Given the description of an element on the screen output the (x, y) to click on. 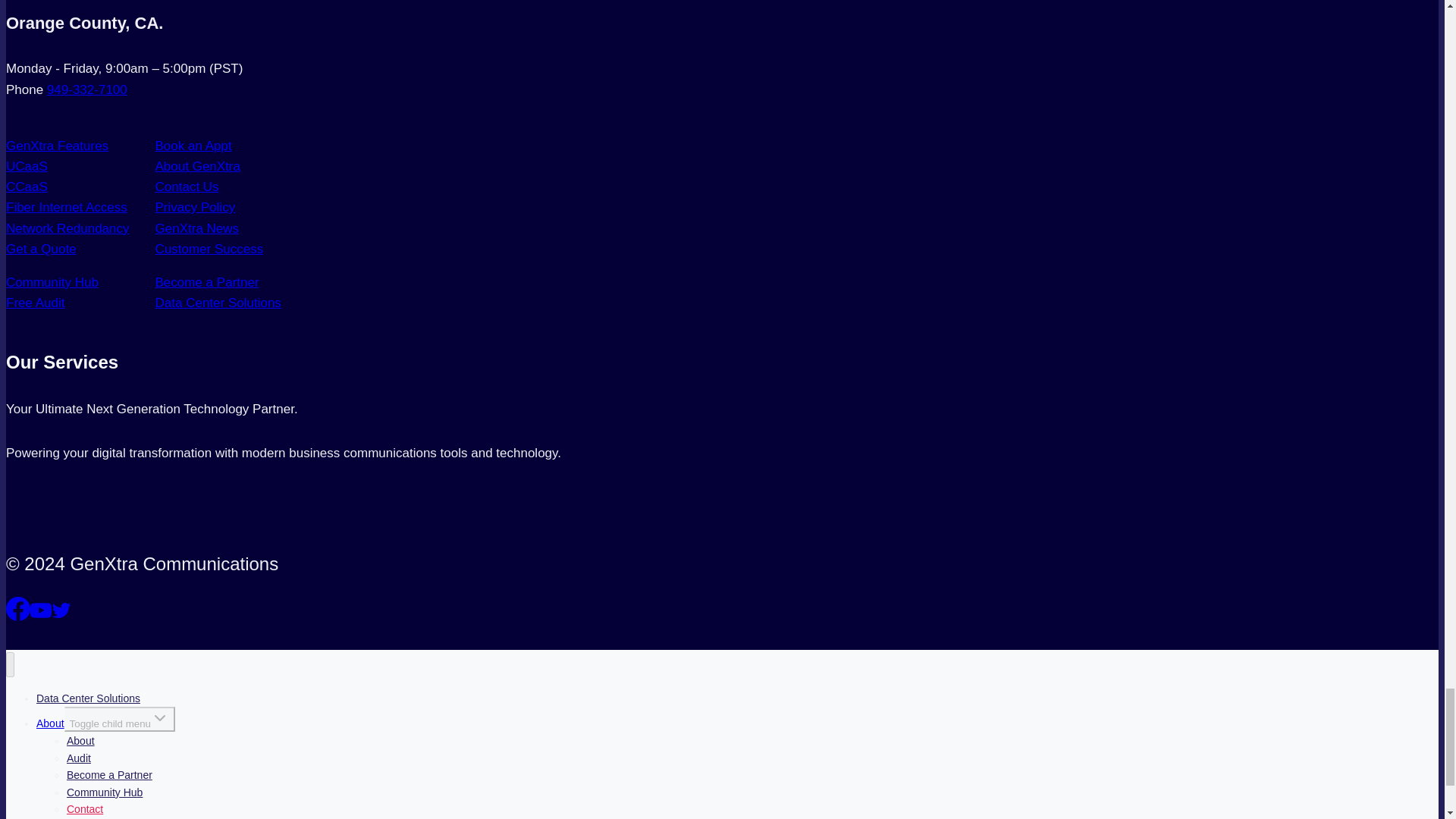
Fiber Internet Access (66, 206)
Facebook (17, 608)
Network Redundancy (67, 228)
Twitter (60, 609)
GenXtra Features (56, 145)
CCaaS (26, 186)
YouTube (40, 609)
Expand (159, 718)
949-332-7100 (87, 89)
UCaaS (26, 165)
